Given the description of an element on the screen output the (x, y) to click on. 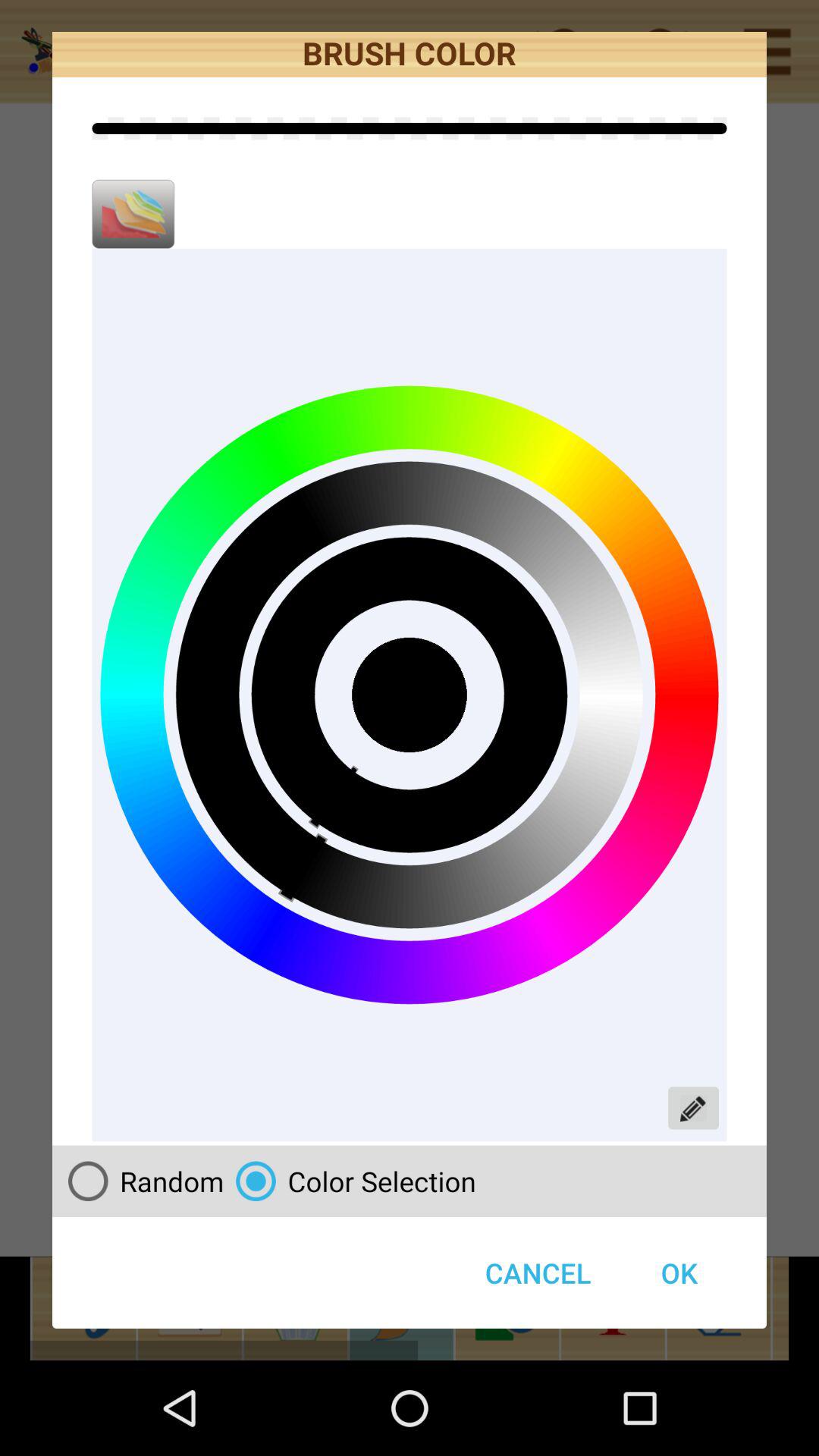
choose button above the cancel (350, 1181)
